Given the description of an element on the screen output the (x, y) to click on. 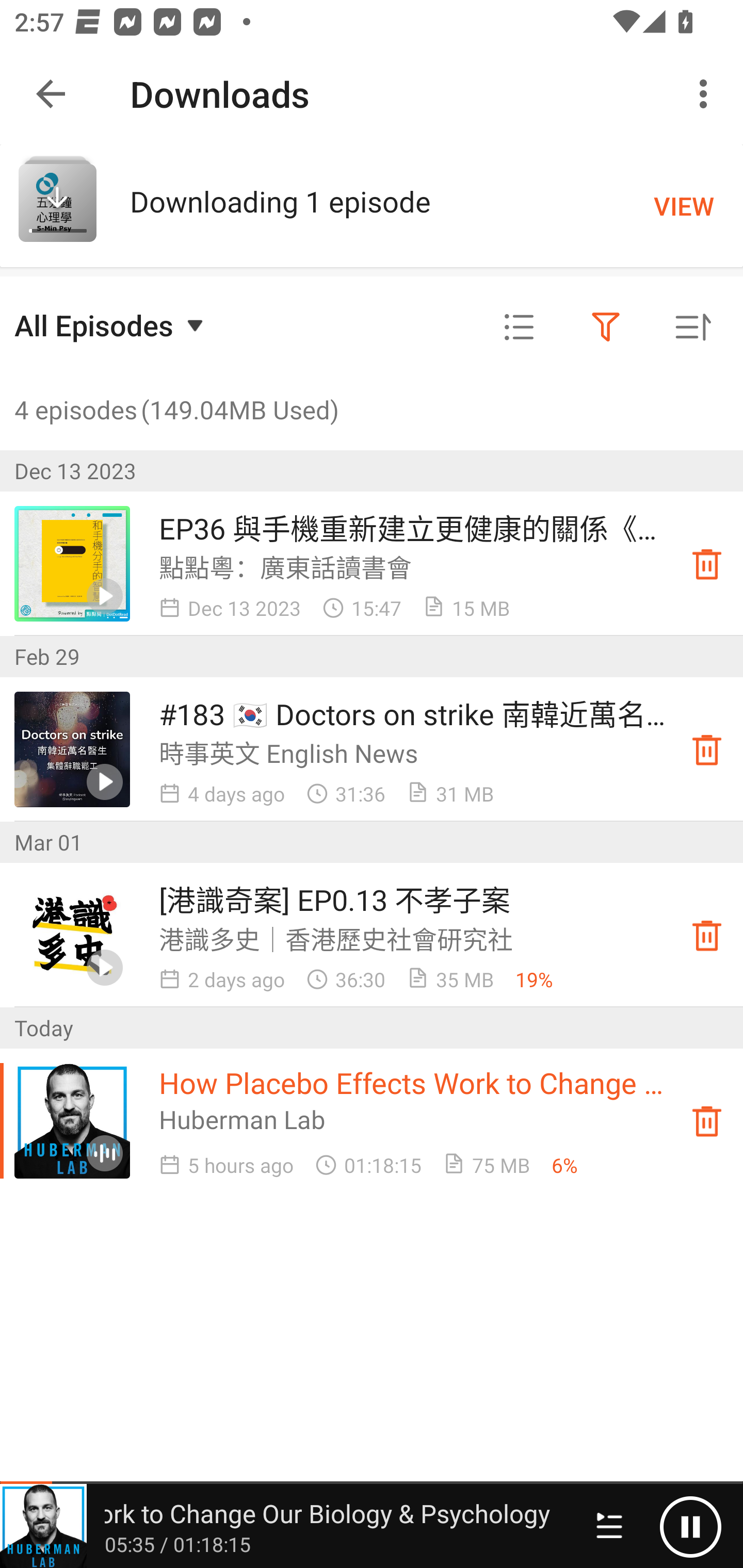
Navigate up (50, 93)
More options (706, 93)
5.0 Downloading 1 episode VIEW (371, 205)
All Episodes (111, 325)
 (518, 327)
 (605, 327)
 Sorted by oldest first (692, 327)
Downloaded (706, 563)
Downloaded (706, 749)
Downloaded (706, 935)
Downloaded (706, 1121)
Pause (690, 1526)
